Given the description of an element on the screen output the (x, y) to click on. 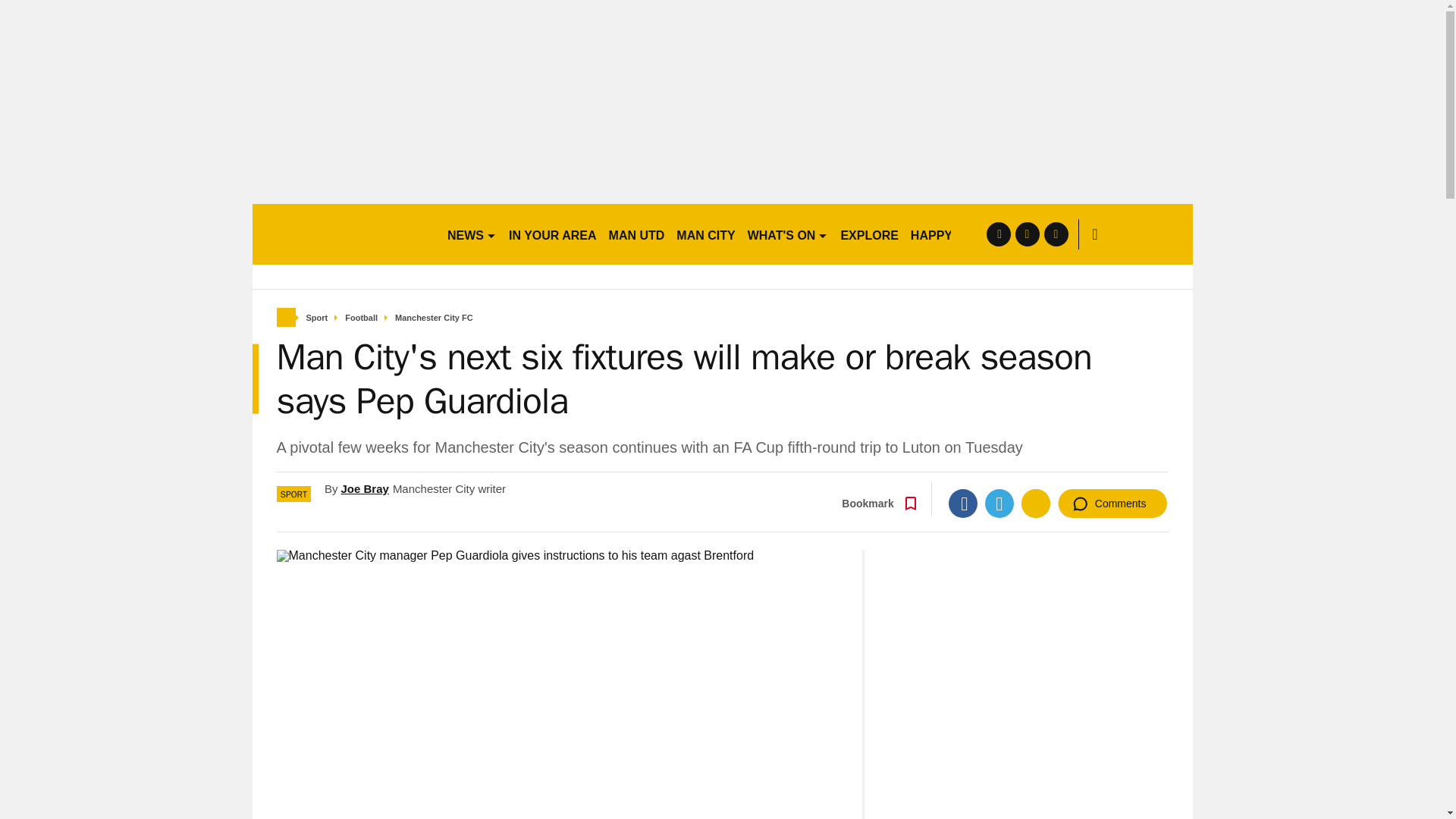
NEWS (471, 233)
Comments (1112, 502)
Twitter (999, 502)
facebook (997, 233)
twitter (1026, 233)
instagram (1055, 233)
WHAT'S ON (787, 233)
MAN CITY (705, 233)
men (342, 233)
MAN UTD (636, 233)
IN YOUR AREA (552, 233)
Facebook (962, 502)
